Given the description of an element on the screen output the (x, y) to click on. 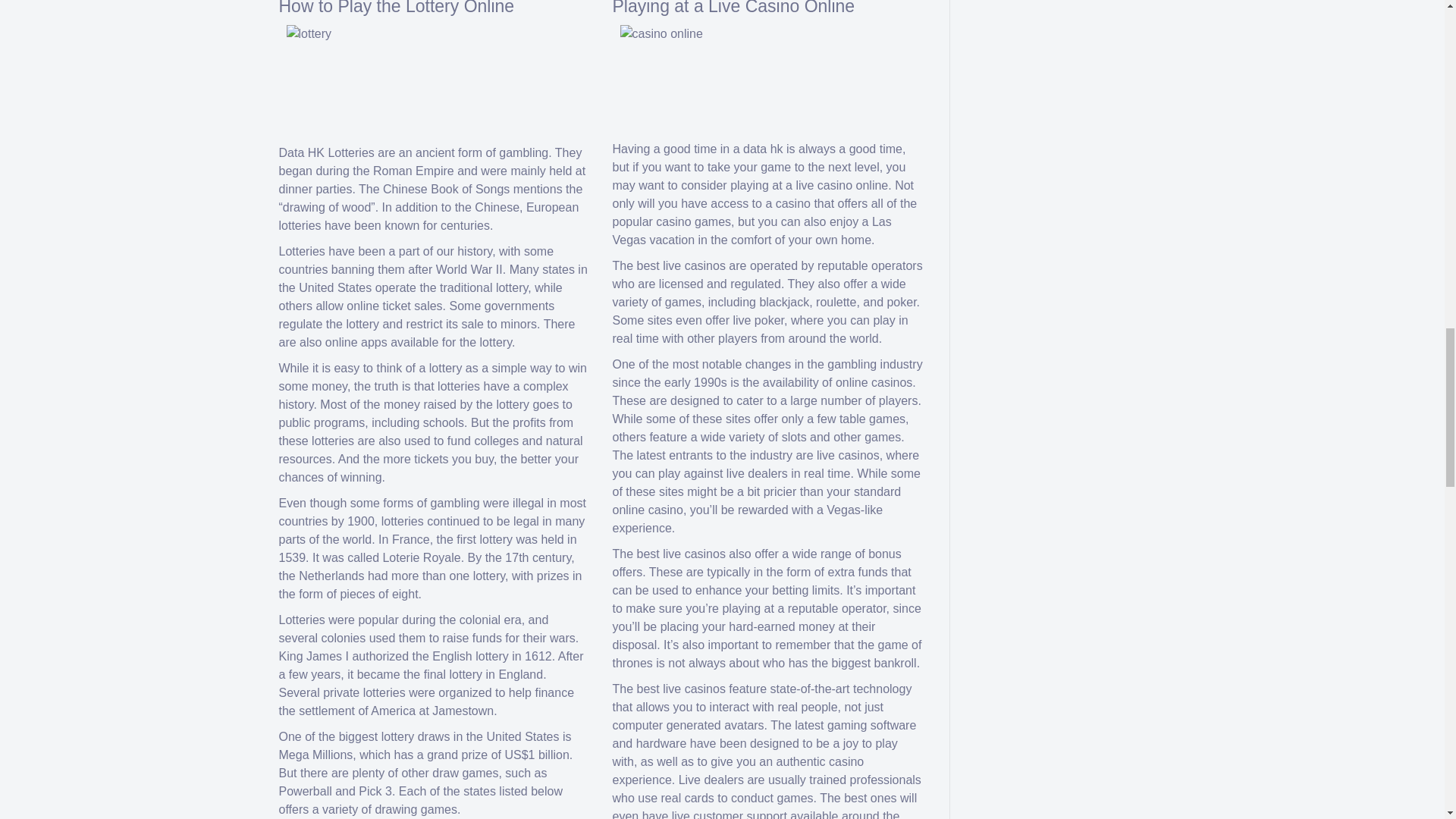
data hk (762, 148)
Data HK (301, 152)
Playing at a Live Casino Online (734, 7)
How to Play the Lottery Online (397, 7)
